Given the description of an element on the screen output the (x, y) to click on. 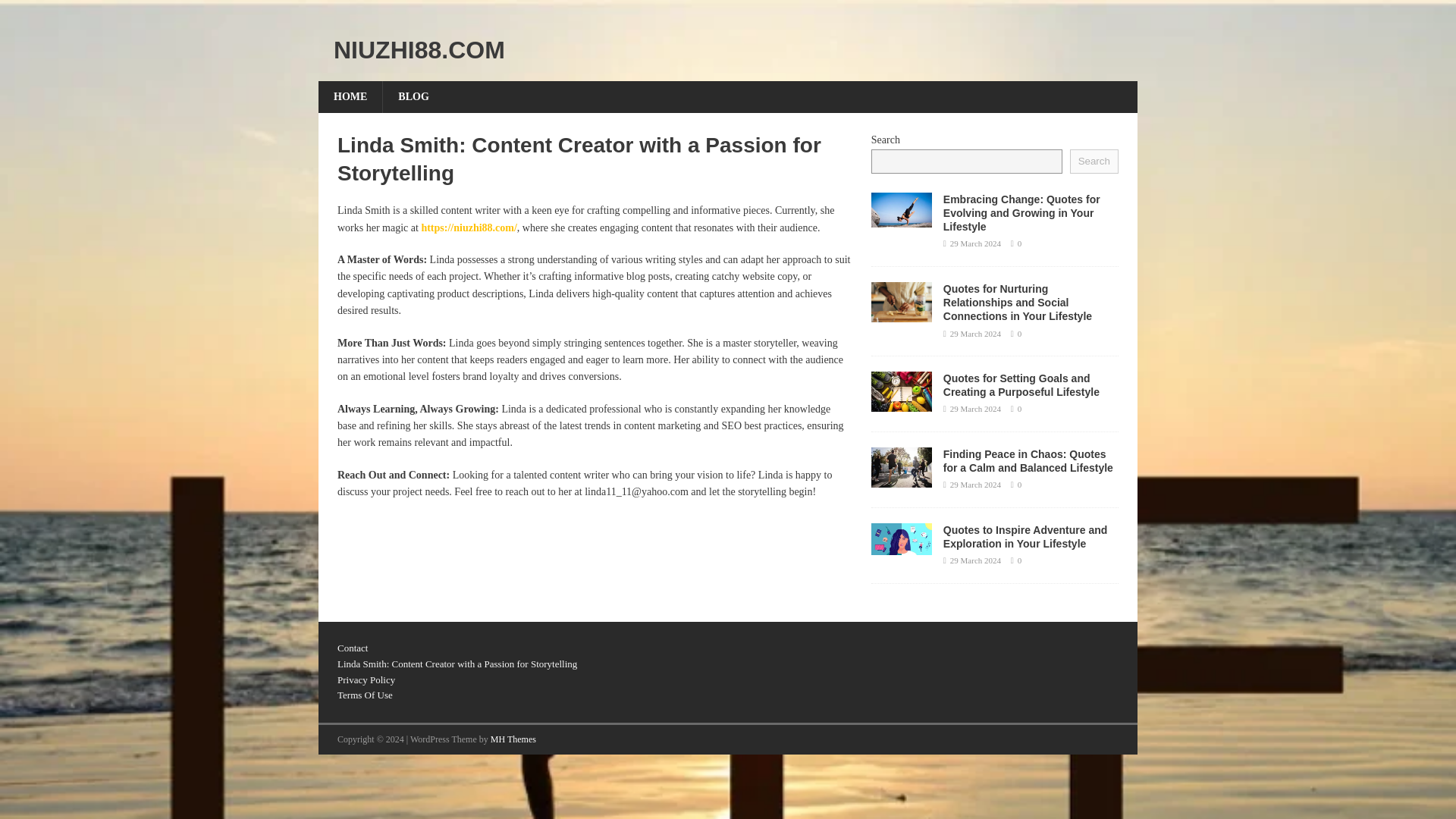
Terms Of Use (365, 695)
BLOG (412, 97)
Privacy Policy (365, 679)
Contact (352, 647)
NIUZHI88.COM (727, 49)
Linda Smith: Content Creator with a Passion for Storytelling (456, 663)
Quotes for Setting Goals and Creating a Purposeful Lifestyle (1021, 385)
